Given the description of an element on the screen output the (x, y) to click on. 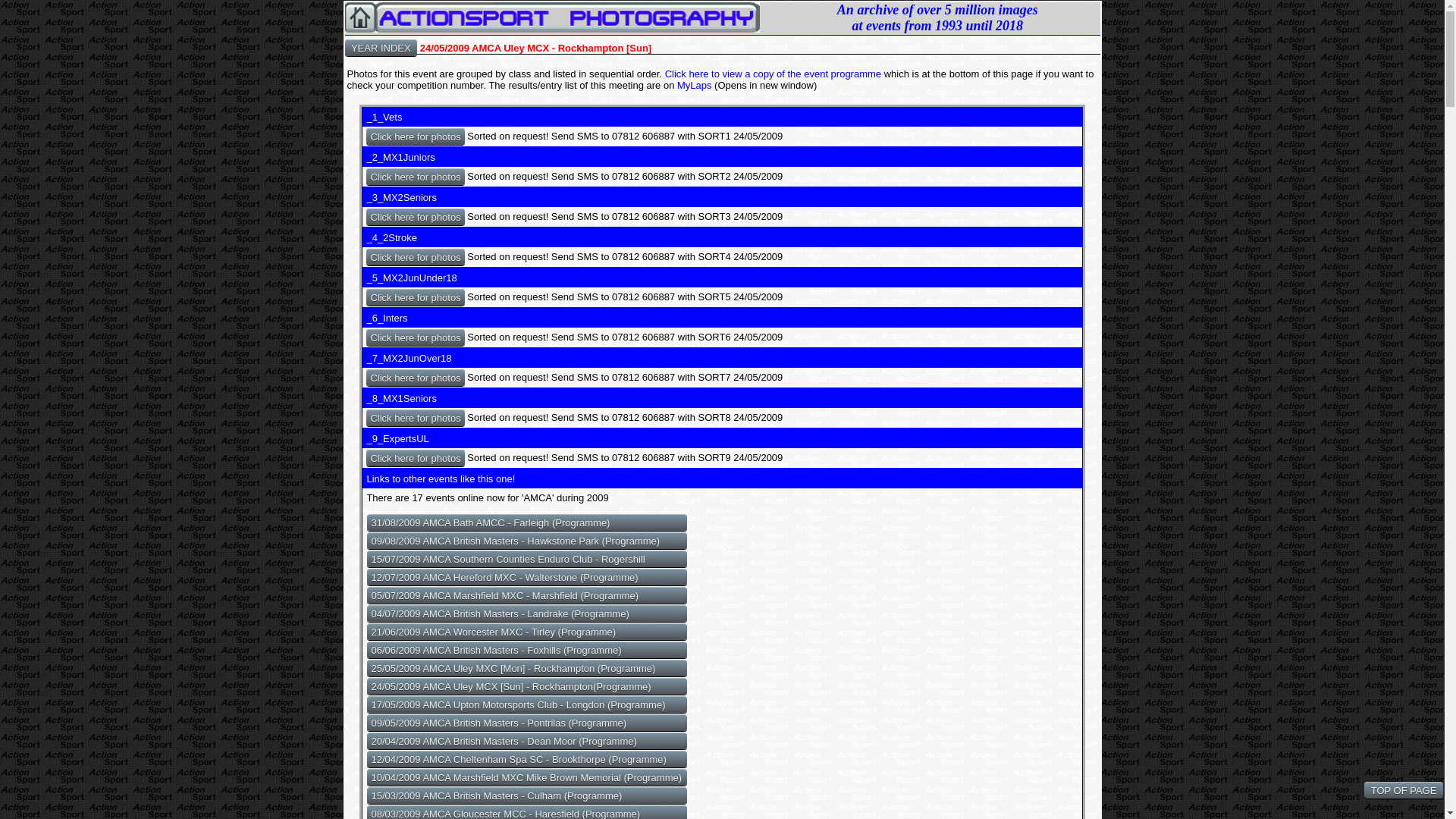
Click here for photos (415, 297)
Click here for photos (415, 417)
MyLaps (695, 84)
Click here for photos (415, 337)
Click here for photos (415, 256)
Click here for photos (415, 377)
 YEAR INDEX  (379, 47)
Click here for photos (415, 457)
Click here for photos (415, 135)
Return to the events index for this year (379, 47)
Click here for photos (415, 216)
Click here for photos (415, 176)
